Given the description of an element on the screen output the (x, y) to click on. 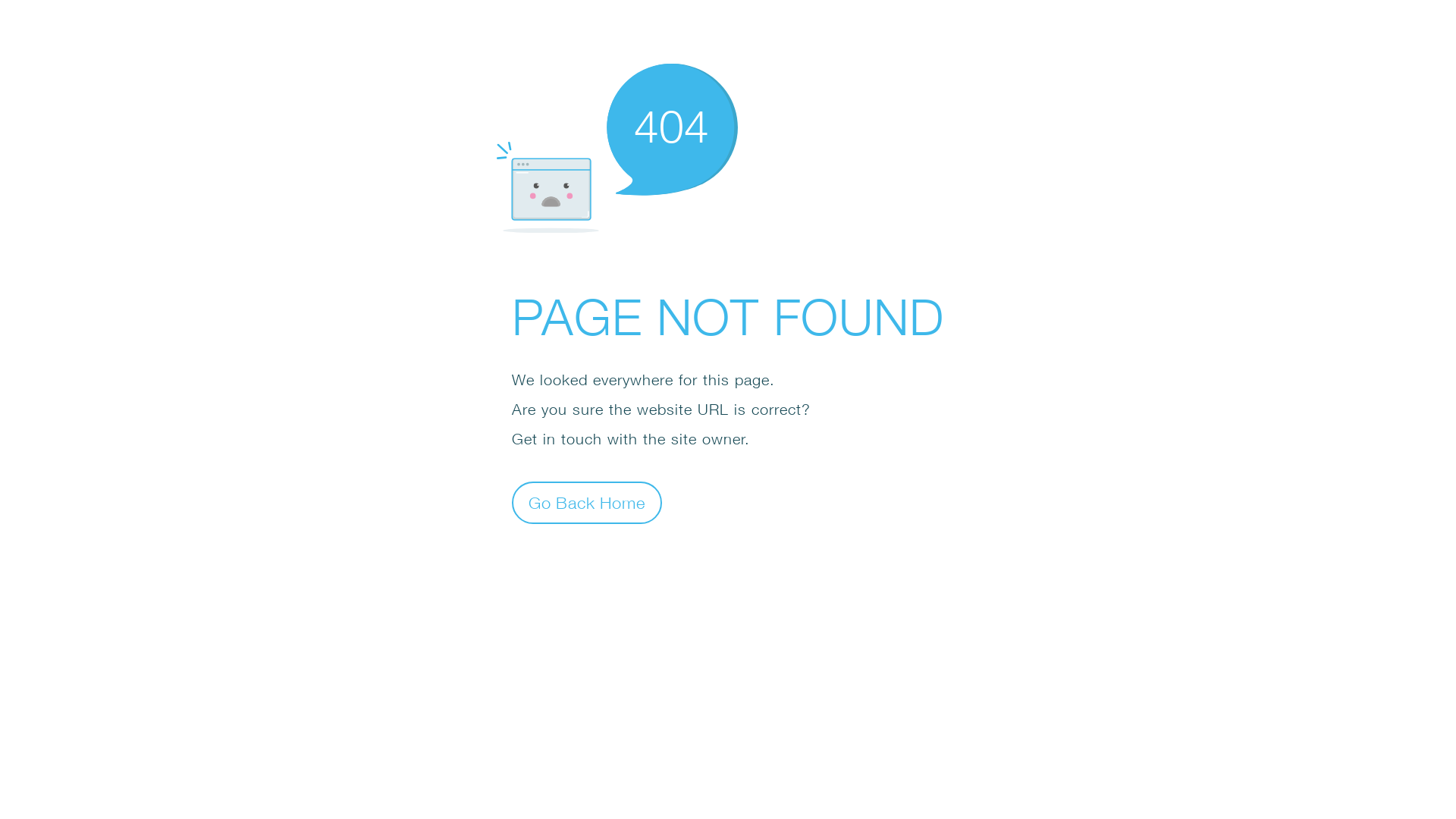
Go Back Home Element type: text (586, 502)
